Given the description of an element on the screen output the (x, y) to click on. 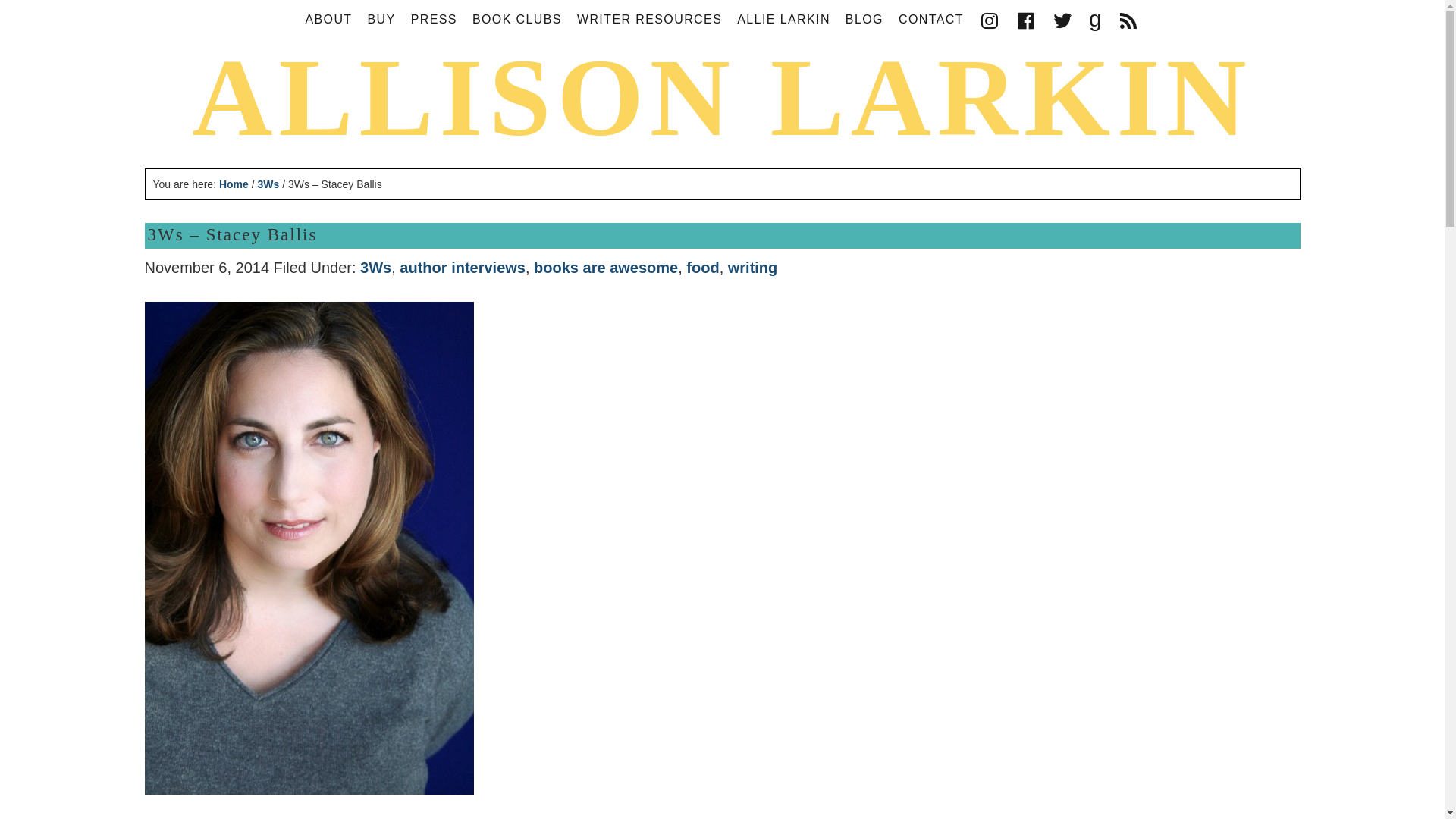
ALLIE LARKIN (783, 20)
3Ws (268, 184)
BLOG (864, 20)
PRESS (433, 20)
author interviews (461, 267)
Home (233, 184)
ABOUT (328, 20)
WRITER RESOURCES (649, 20)
writing (752, 267)
BOOK CLUBS (516, 20)
3Ws (375, 267)
books are awesome (606, 267)
BUY (381, 20)
food (702, 267)
ALLISON LARKIN (722, 97)
